Given the description of an element on the screen output the (x, y) to click on. 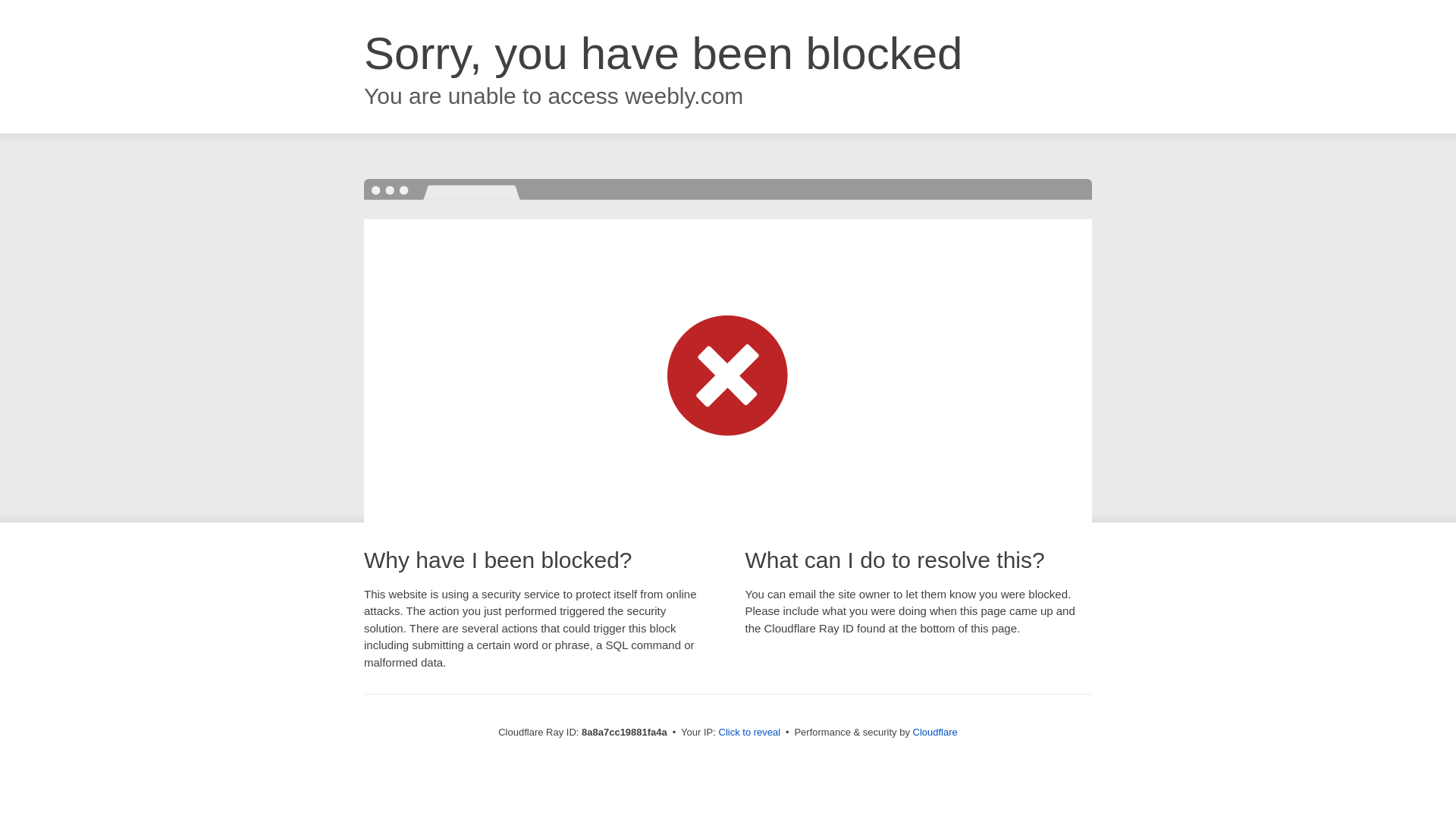
Cloudflare (935, 731)
Click to reveal (749, 732)
